Given the description of an element on the screen output the (x, y) to click on. 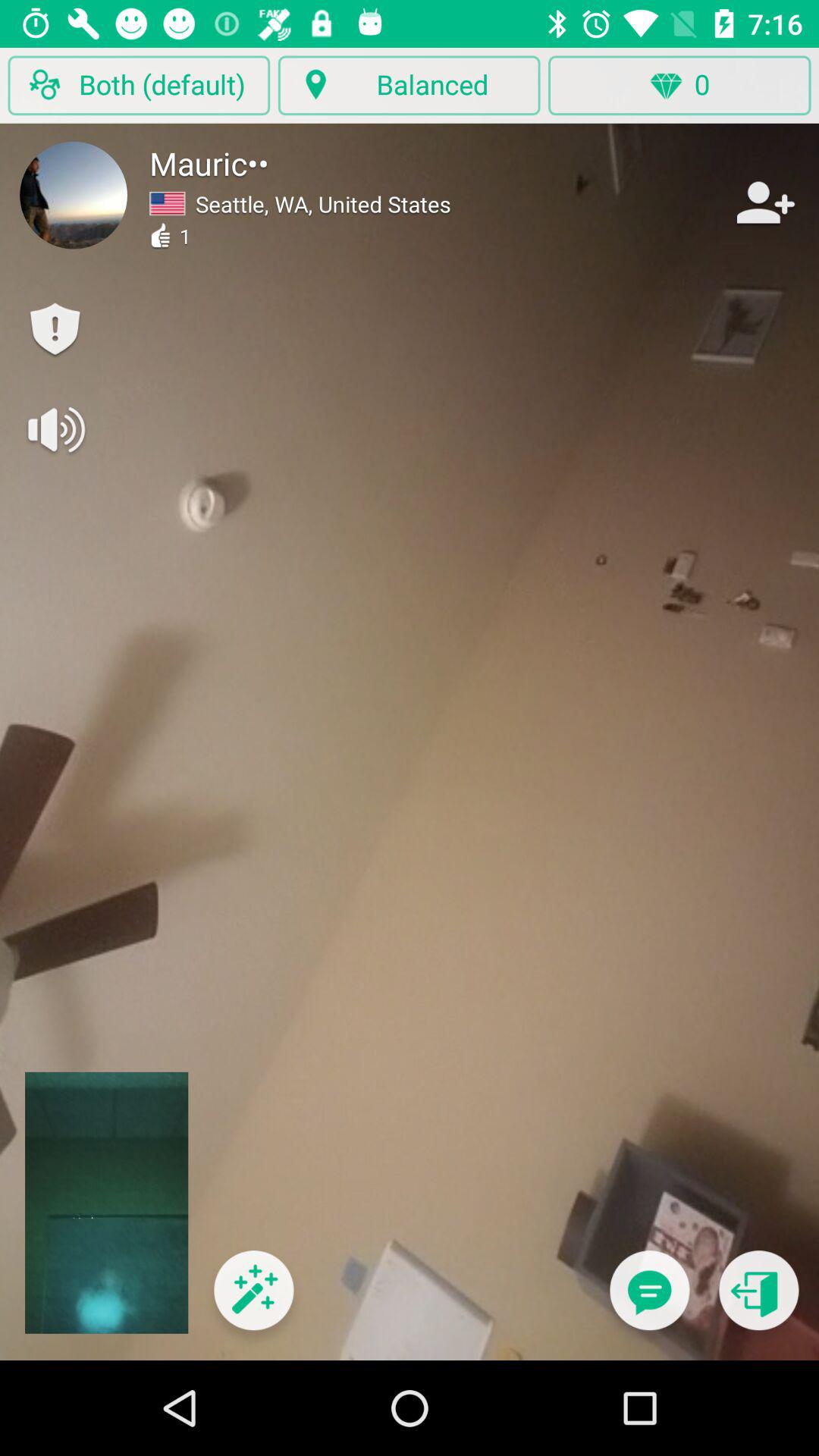
view text messages (649, 1300)
